Given the description of an element on the screen output the (x, y) to click on. 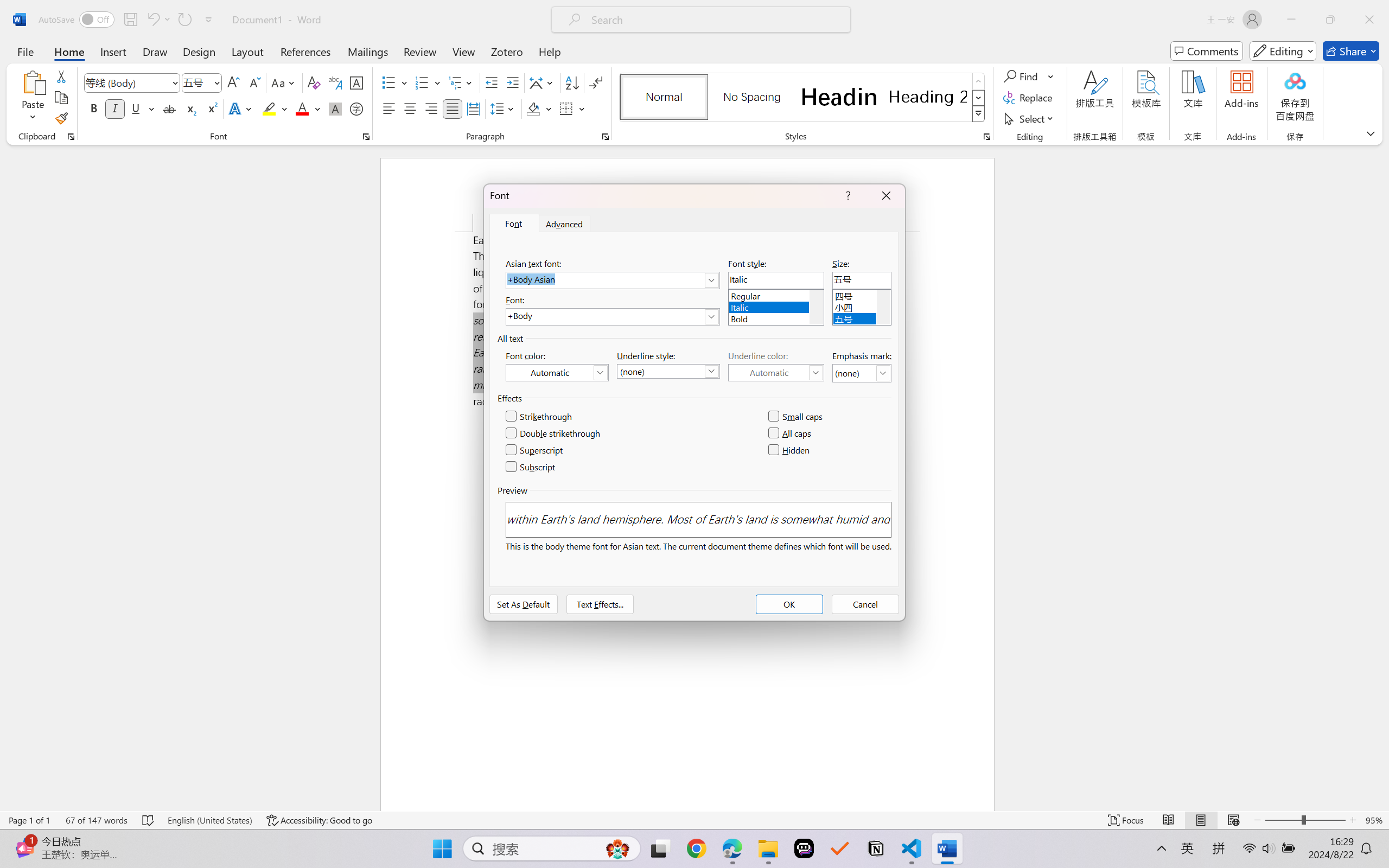
Text Effects... (599, 603)
Heading 2 (927, 96)
AutomationID: 1795 (815, 306)
Select (1030, 118)
Shading RGB(0, 0, 0) (533, 108)
Microsoft search (715, 19)
Double strikethrough (553, 433)
Row up (978, 81)
